Given the description of an element on the screen output the (x, y) to click on. 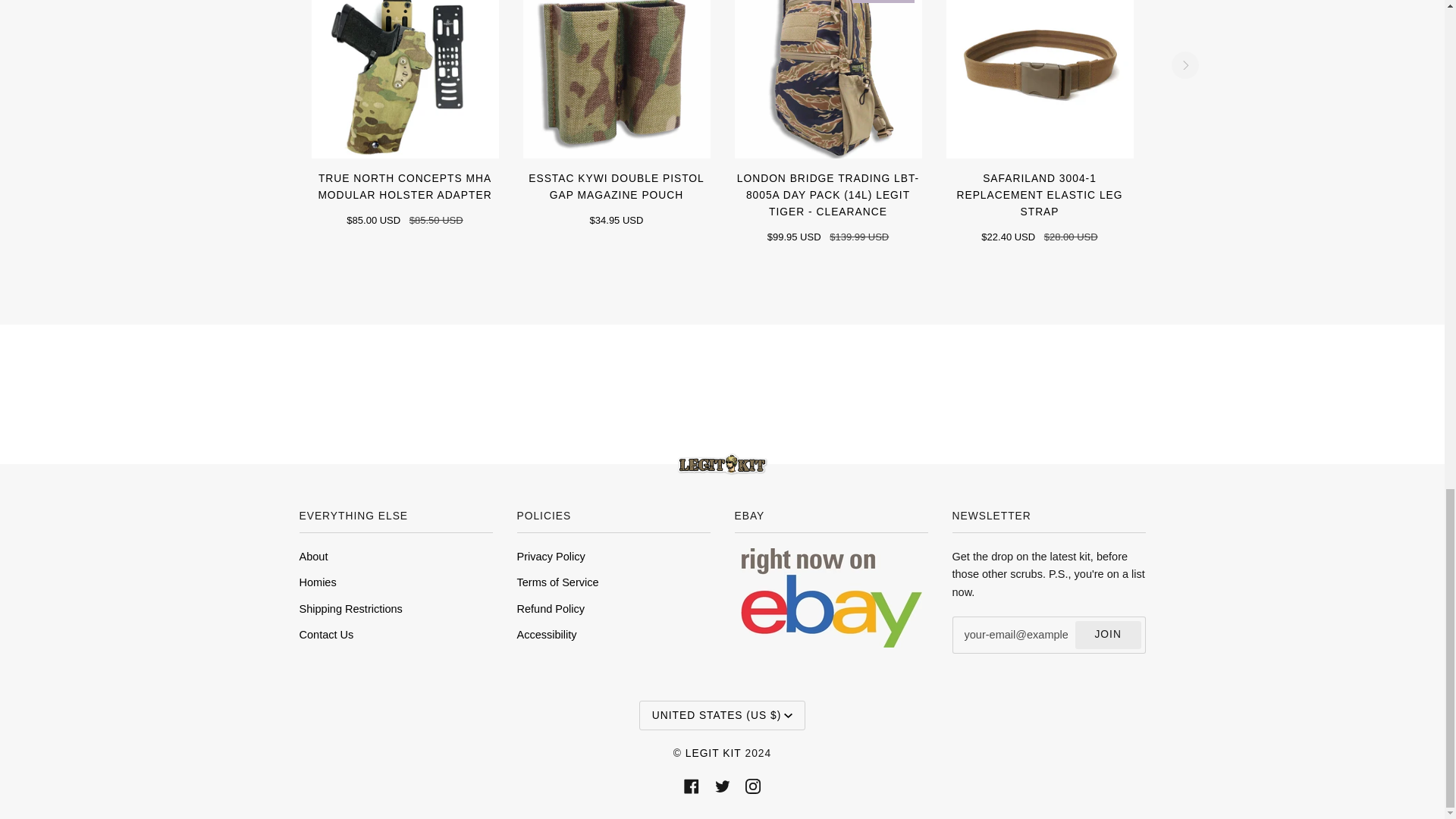
Facebook (691, 785)
Twitter (721, 785)
Instagram (752, 785)
